Given the description of an element on the screen output the (x, y) to click on. 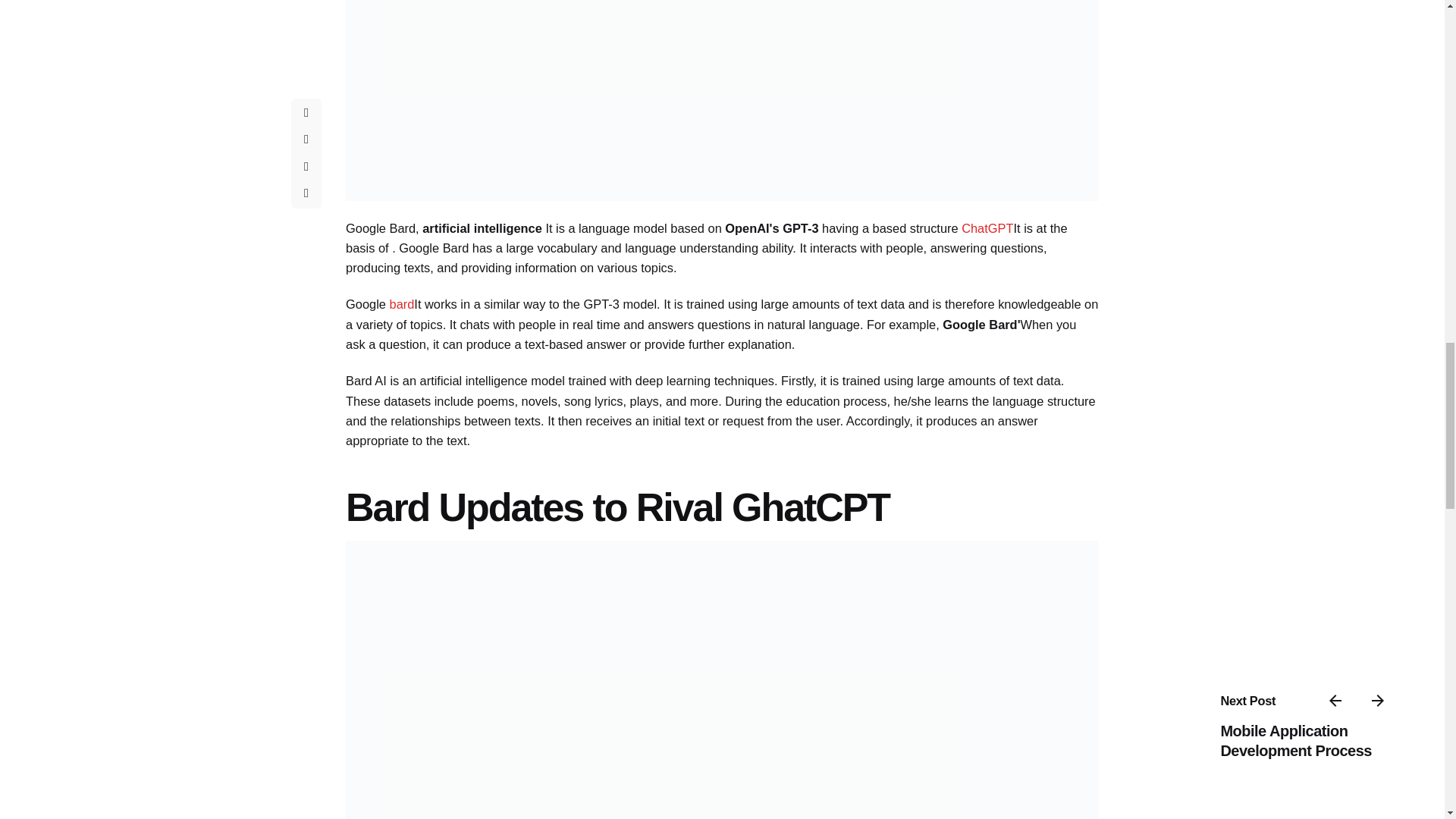
ChatGPT (986, 228)
